Given the description of an element on the screen output the (x, y) to click on. 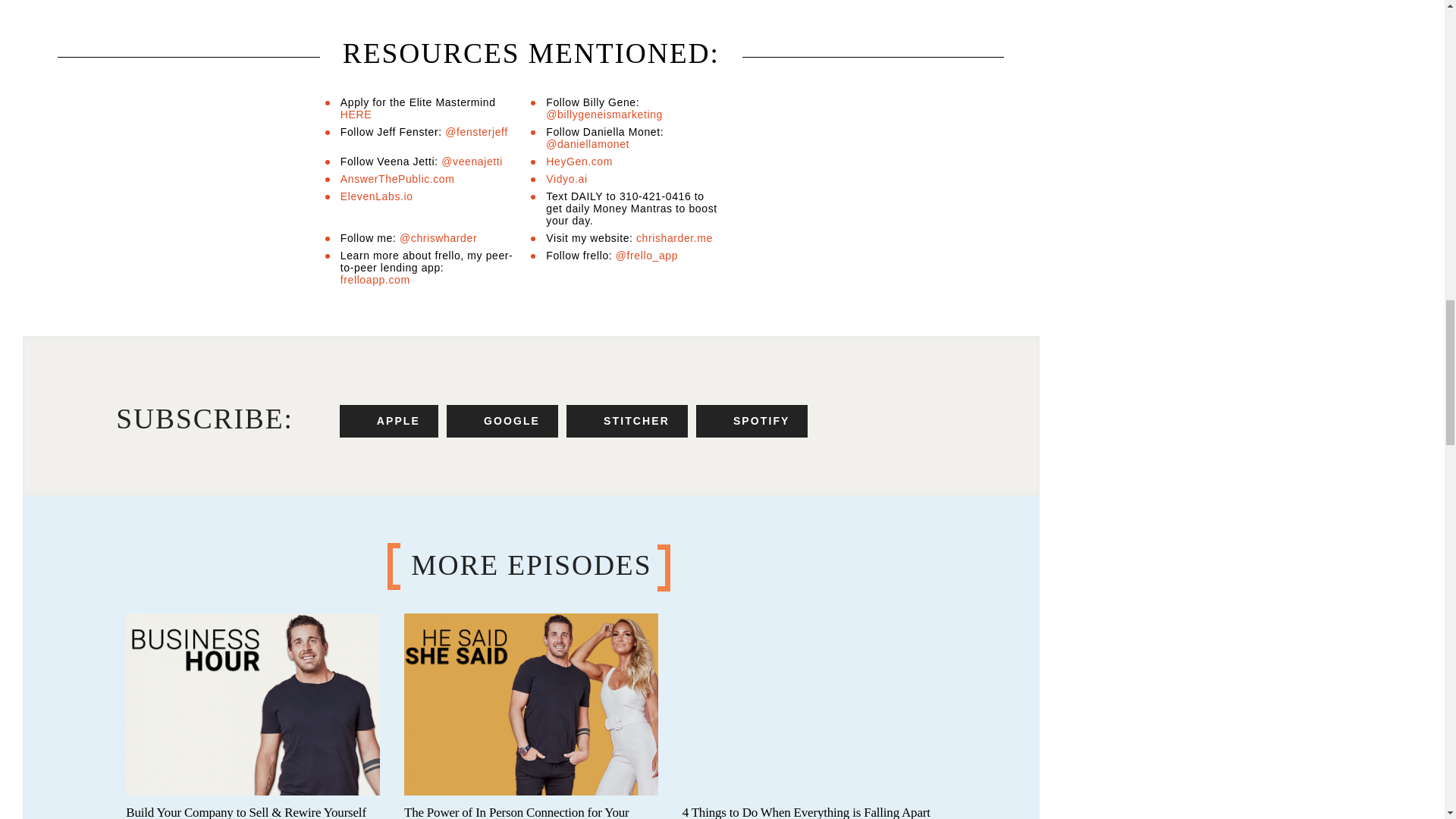
Vidyo.ai (566, 178)
AnswerThePublic.com (397, 178)
4 Things to Do When Everything is Falling Apart (806, 812)
HeyGen.com (579, 161)
STITCHER (626, 420)
SPOTIFY (751, 420)
APPLE (388, 420)
The Power of In Person Connection for Your Business (516, 812)
GOOGLE (501, 420)
ElevenLabs.io (376, 196)
HERE (355, 114)
frelloapp.com (375, 279)
chrisharder.me (674, 237)
